Given the description of an element on the screen output the (x, y) to click on. 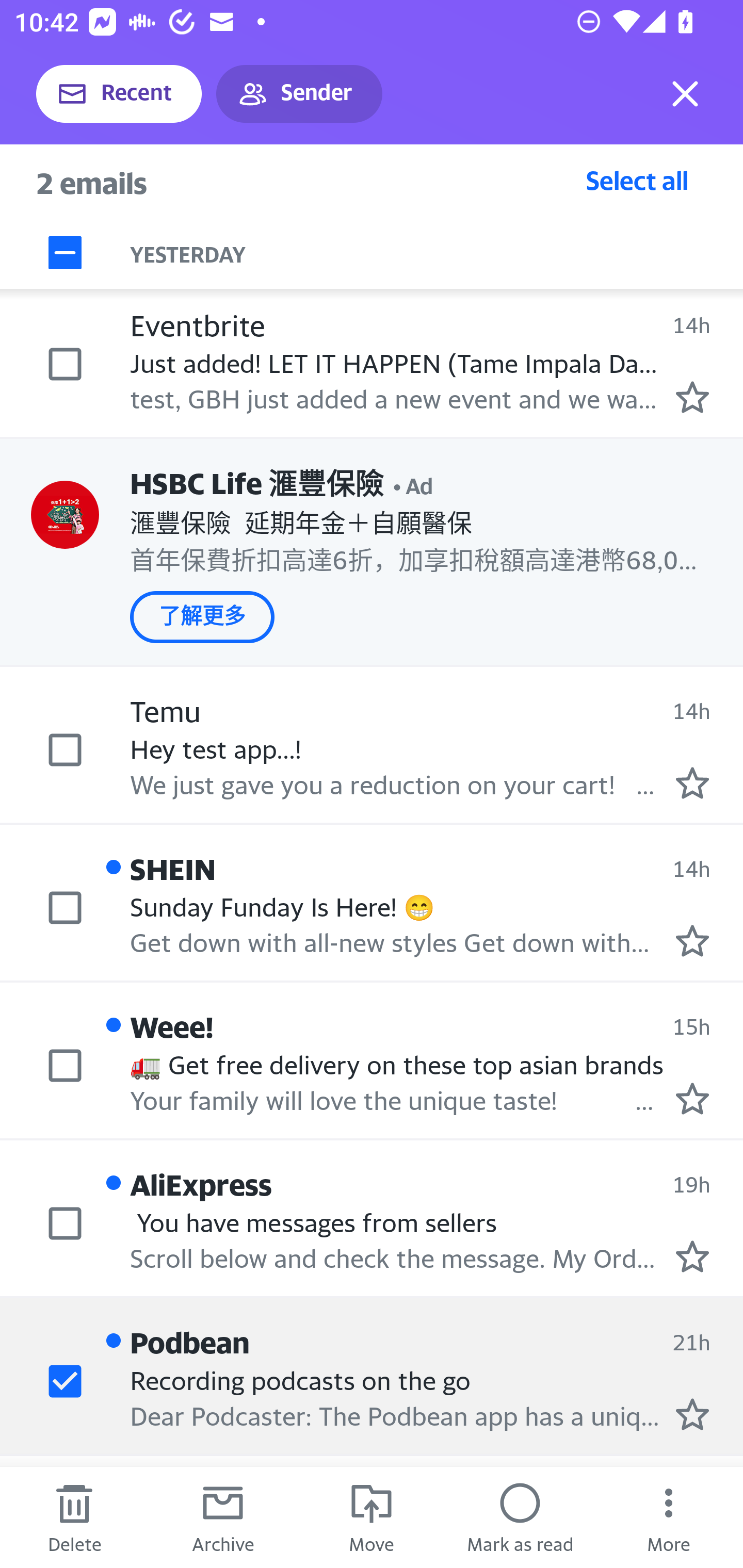
Sender (299, 93)
Exit selection mode (684, 93)
Select all (637, 180)
Mark as starred. (692, 397)
Mark as starred. (692, 783)
Mark as starred. (692, 940)
Mark as starred. (692, 1098)
Mark as starred. (692, 1256)
Mark as starred. (692, 1413)
Delete (74, 1517)
Archive (222, 1517)
Move (371, 1517)
Mark as read (519, 1517)
More (668, 1517)
